Given the description of an element on the screen output the (x, y) to click on. 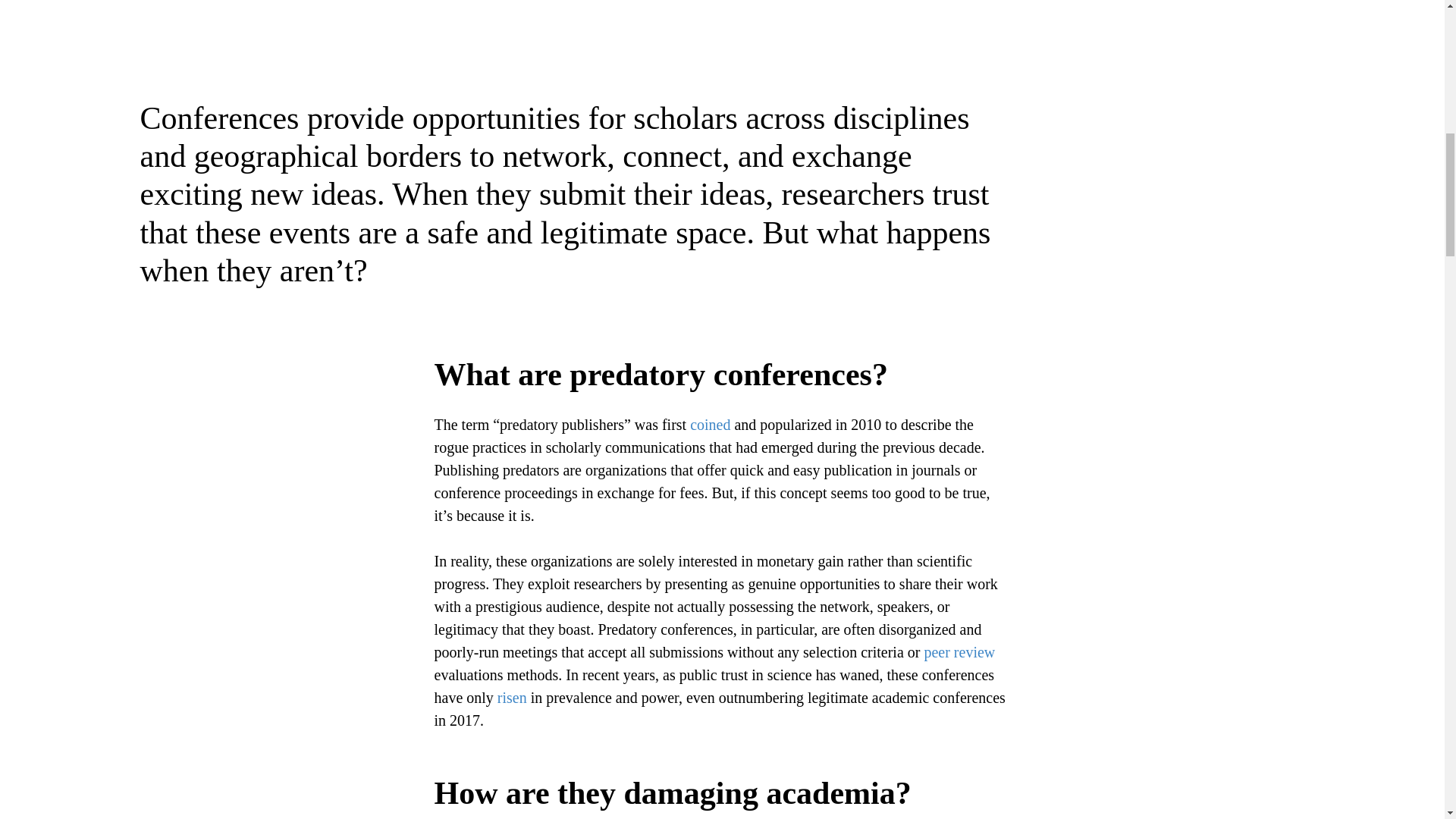
peer review (958, 651)
risen (510, 697)
coined (710, 424)
outnumbering (761, 697)
